Given the description of an element on the screen output the (x, y) to click on. 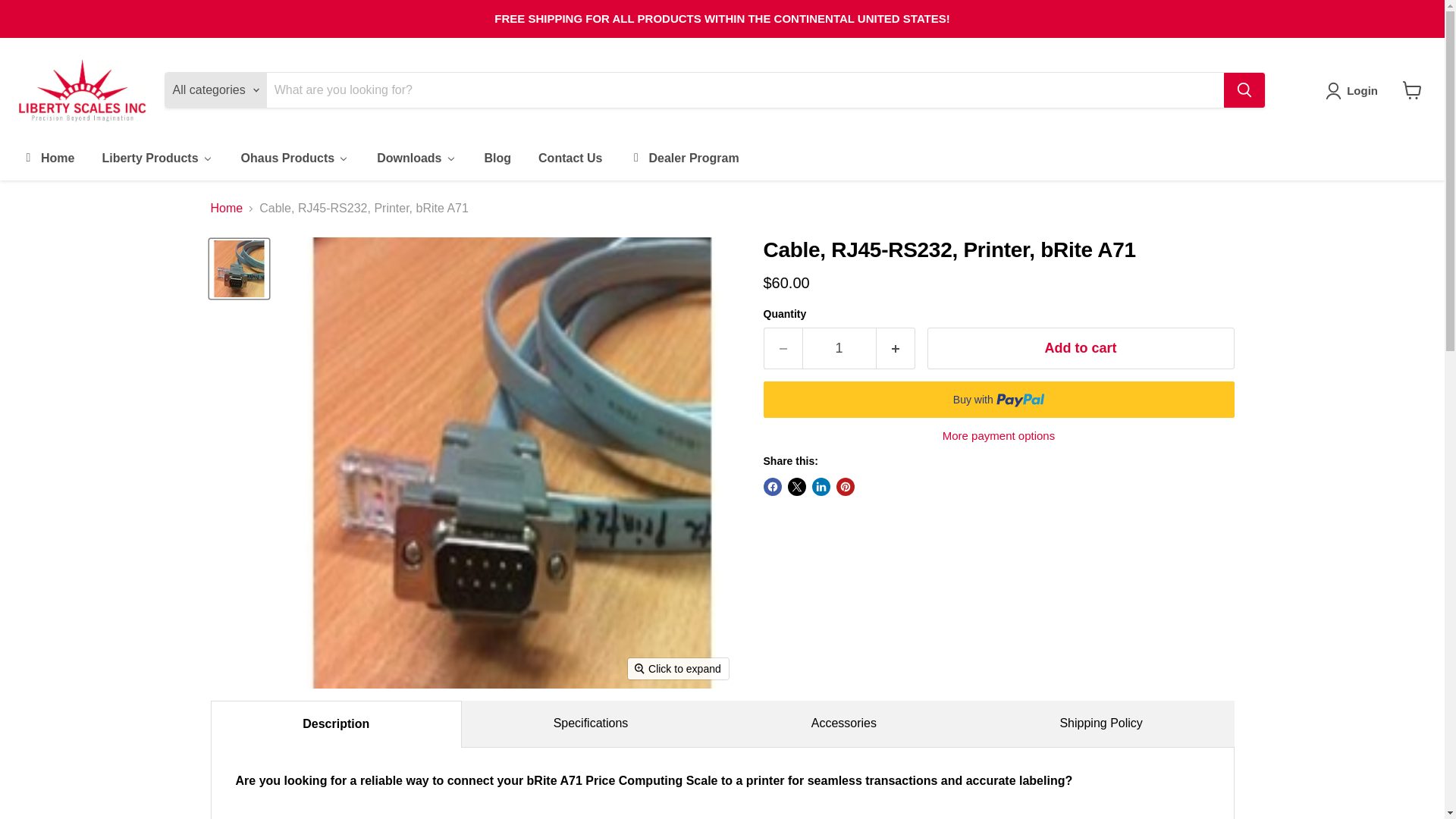
1 (839, 348)
Login (1354, 90)
View cart (1411, 90)
Home (47, 157)
Liberty Products (156, 157)
